Given the description of an element on the screen output the (x, y) to click on. 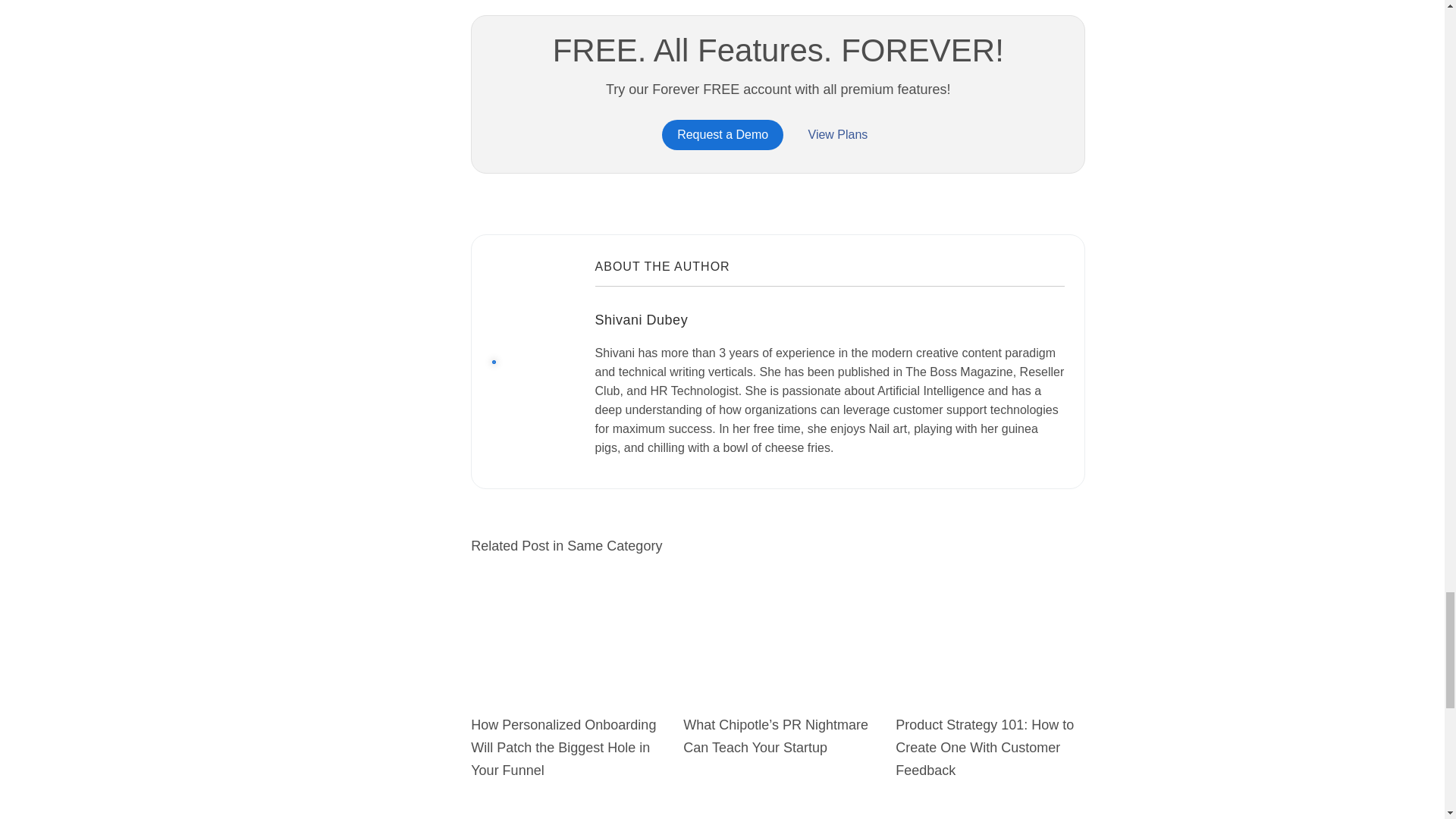
Shivani Dubey (641, 319)
